Given the description of an element on the screen output the (x, y) to click on. 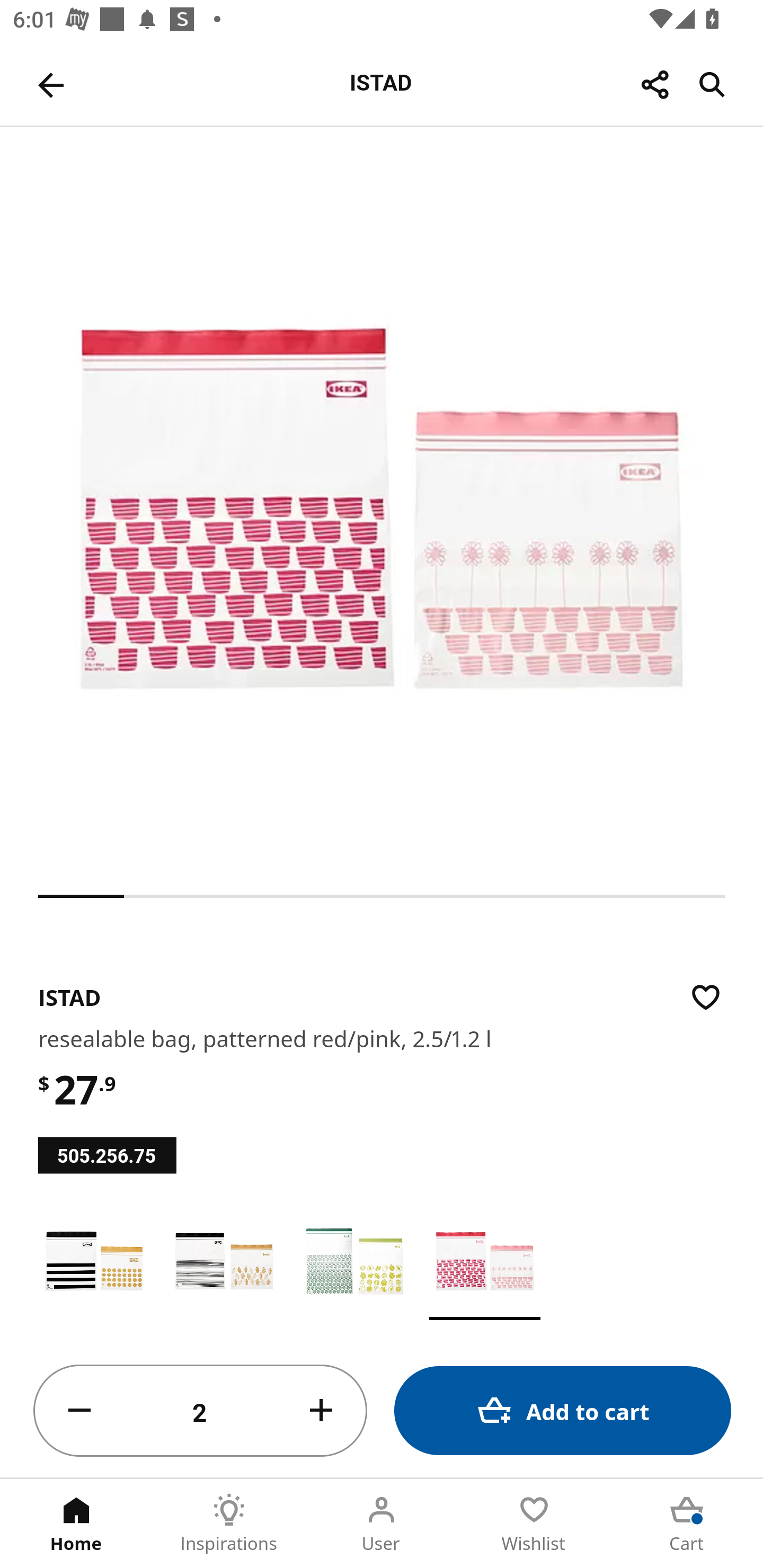
Add to cart (562, 1410)
2 (200, 1411)
Home
Tab 1 of 5 (76, 1522)
Inspirations
Tab 2 of 5 (228, 1522)
User
Tab 3 of 5 (381, 1522)
Wishlist
Tab 4 of 5 (533, 1522)
Cart
Tab 5 of 5 (686, 1522)
